Given the description of an element on the screen output the (x, y) to click on. 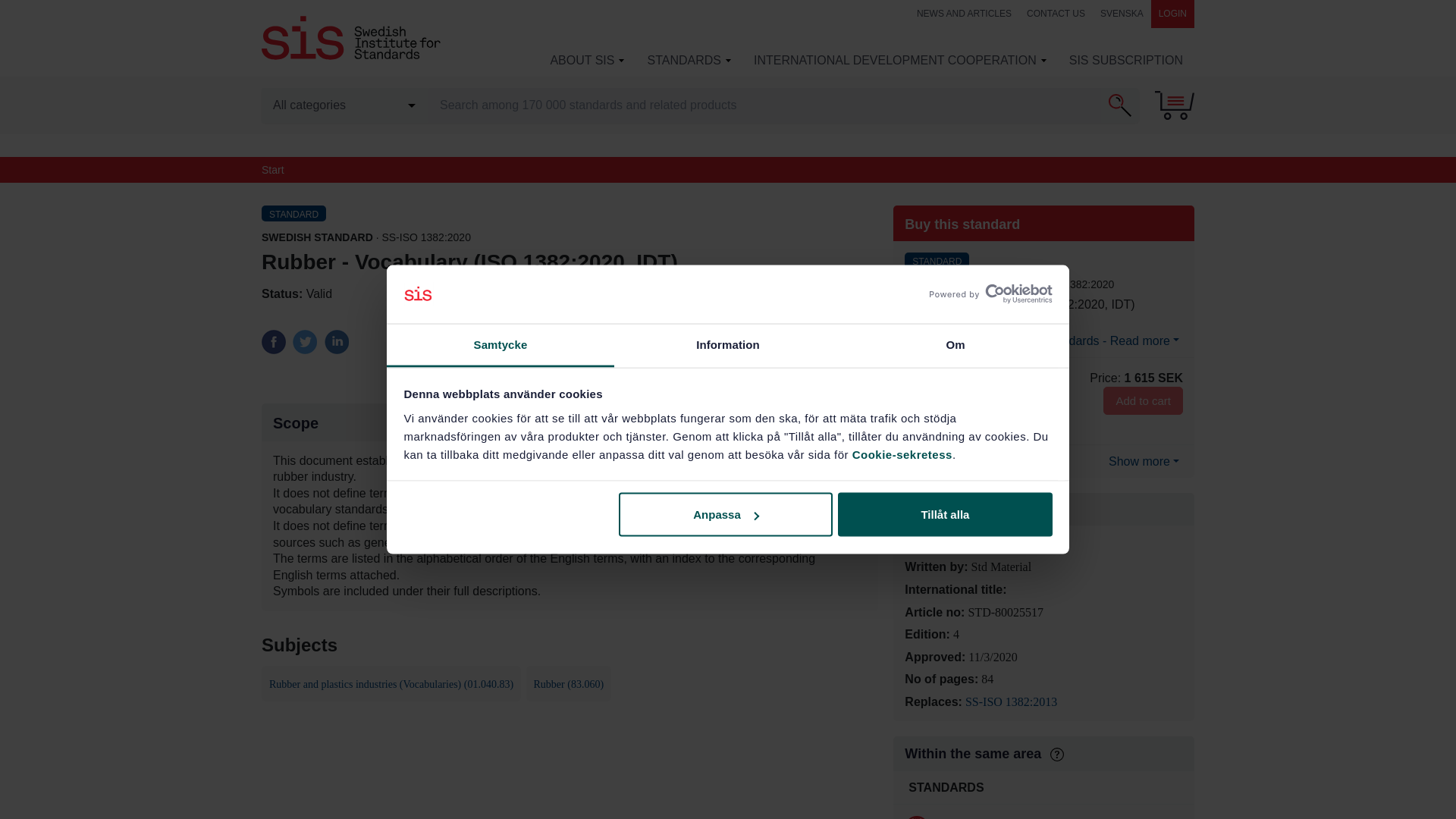
Cookie-sekretess (901, 453)
Samtycke (500, 344)
Om (954, 344)
Information (727, 344)
